Given the description of an element on the screen output the (x, y) to click on. 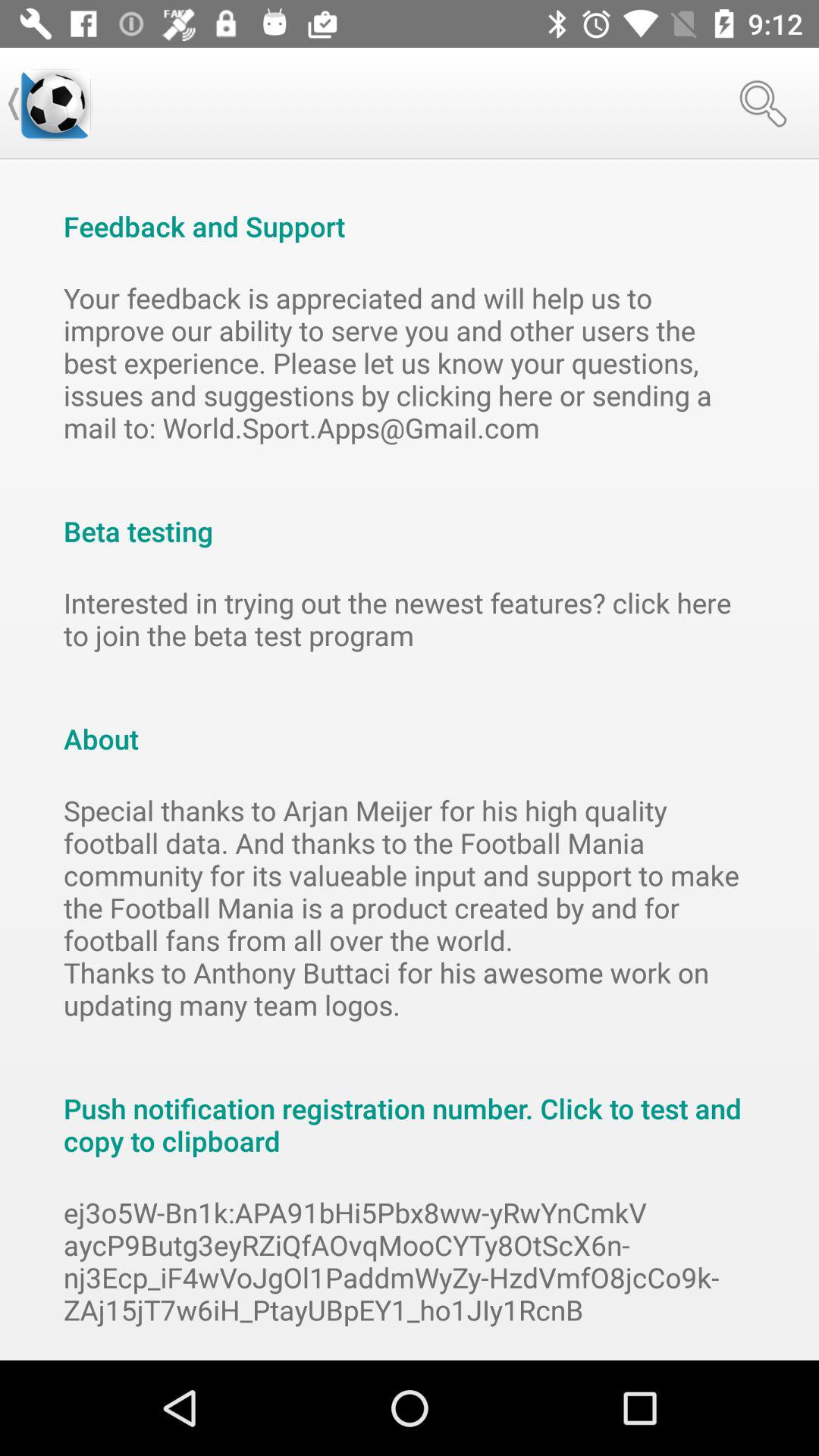
open the item below the special thanks to icon (409, 1108)
